Given the description of an element on the screen output the (x, y) to click on. 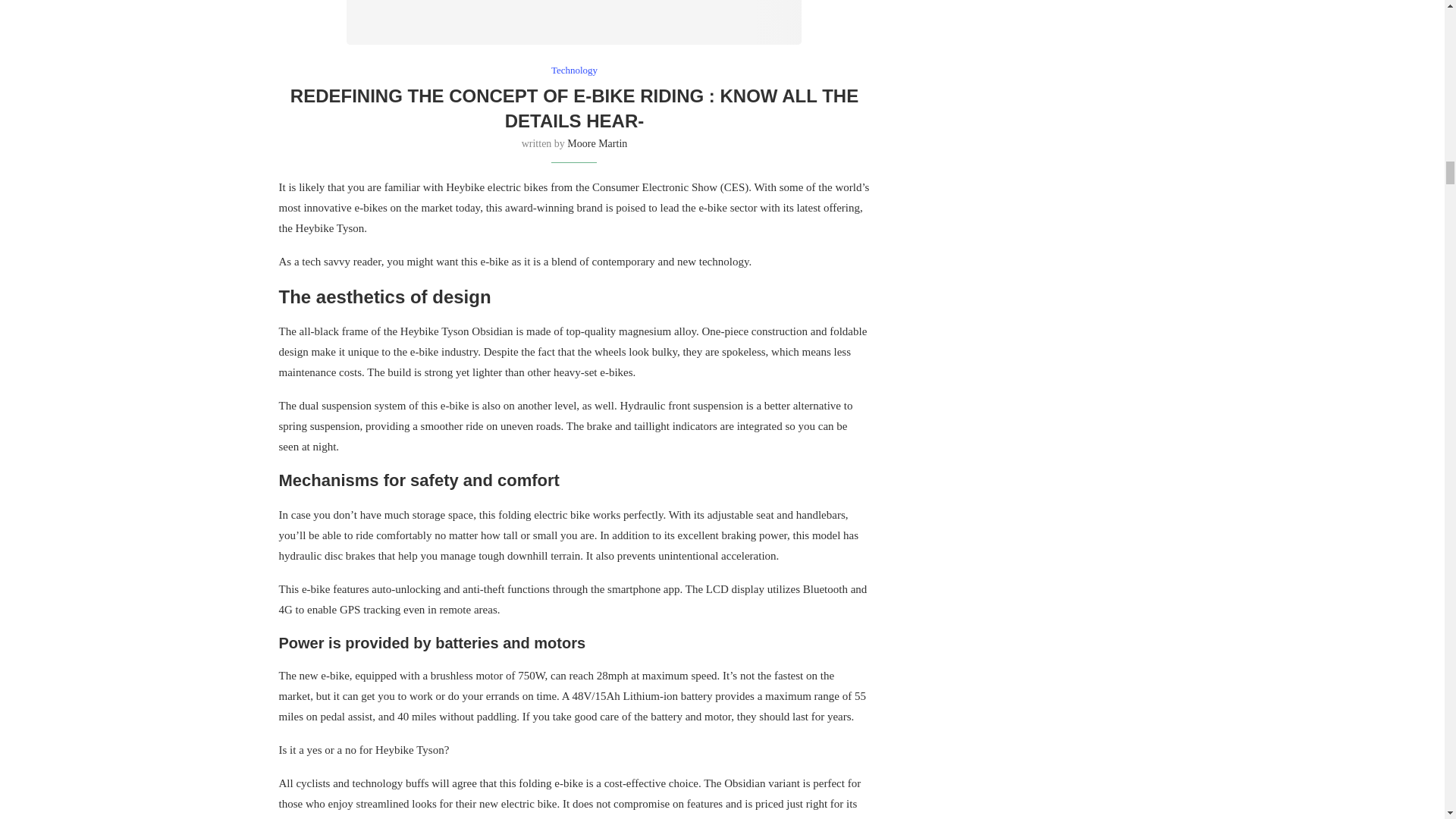
Moore Martin (597, 143)
Technology (573, 70)
Redefining the Concept of E-bike Riding (574, 22)
